Given the description of an element on the screen output the (x, y) to click on. 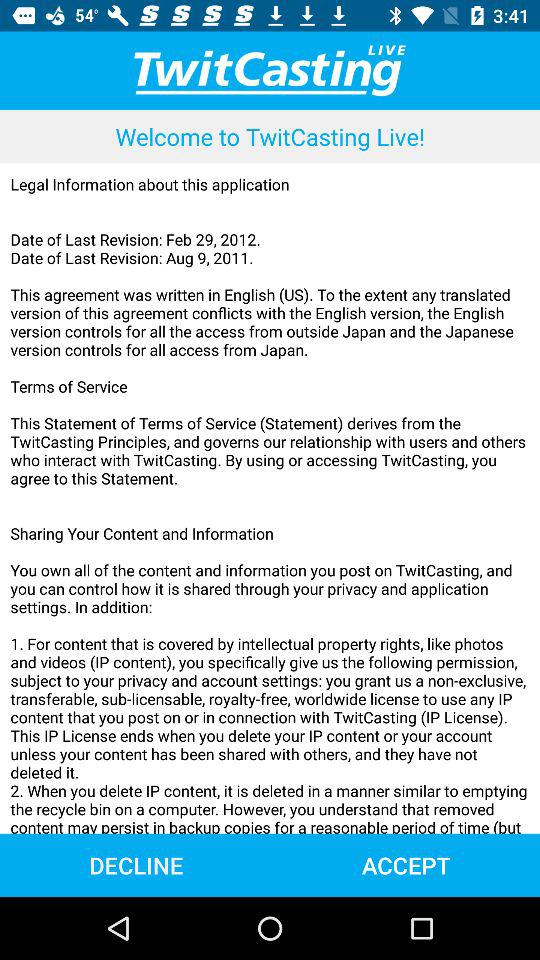
scroll until decline (136, 864)
